Given the description of an element on the screen output the (x, y) to click on. 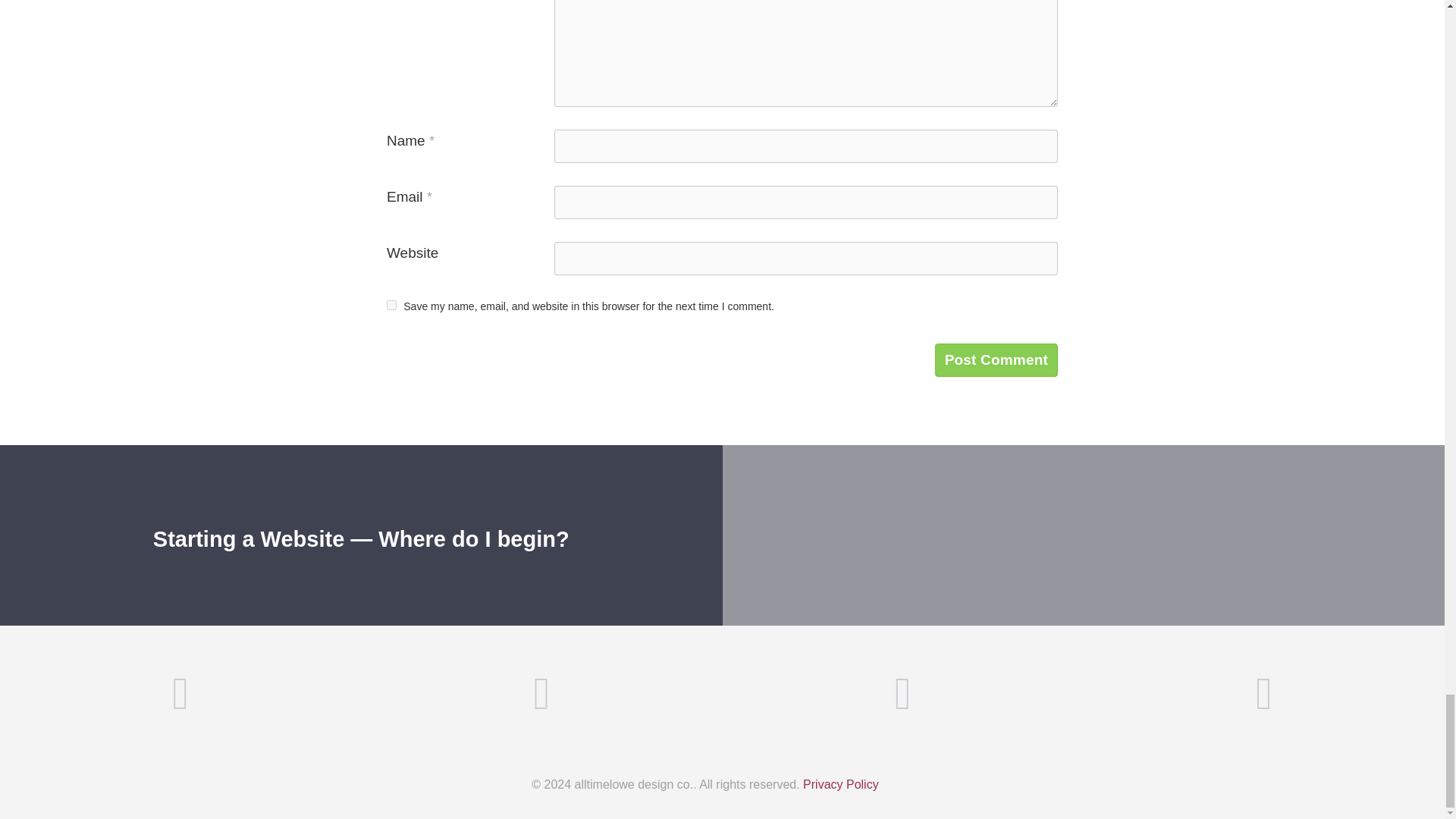
Post Comment (996, 359)
Post Comment (996, 359)
yes (391, 305)
Privacy Policy (841, 784)
